Given the description of an element on the screen output the (x, y) to click on. 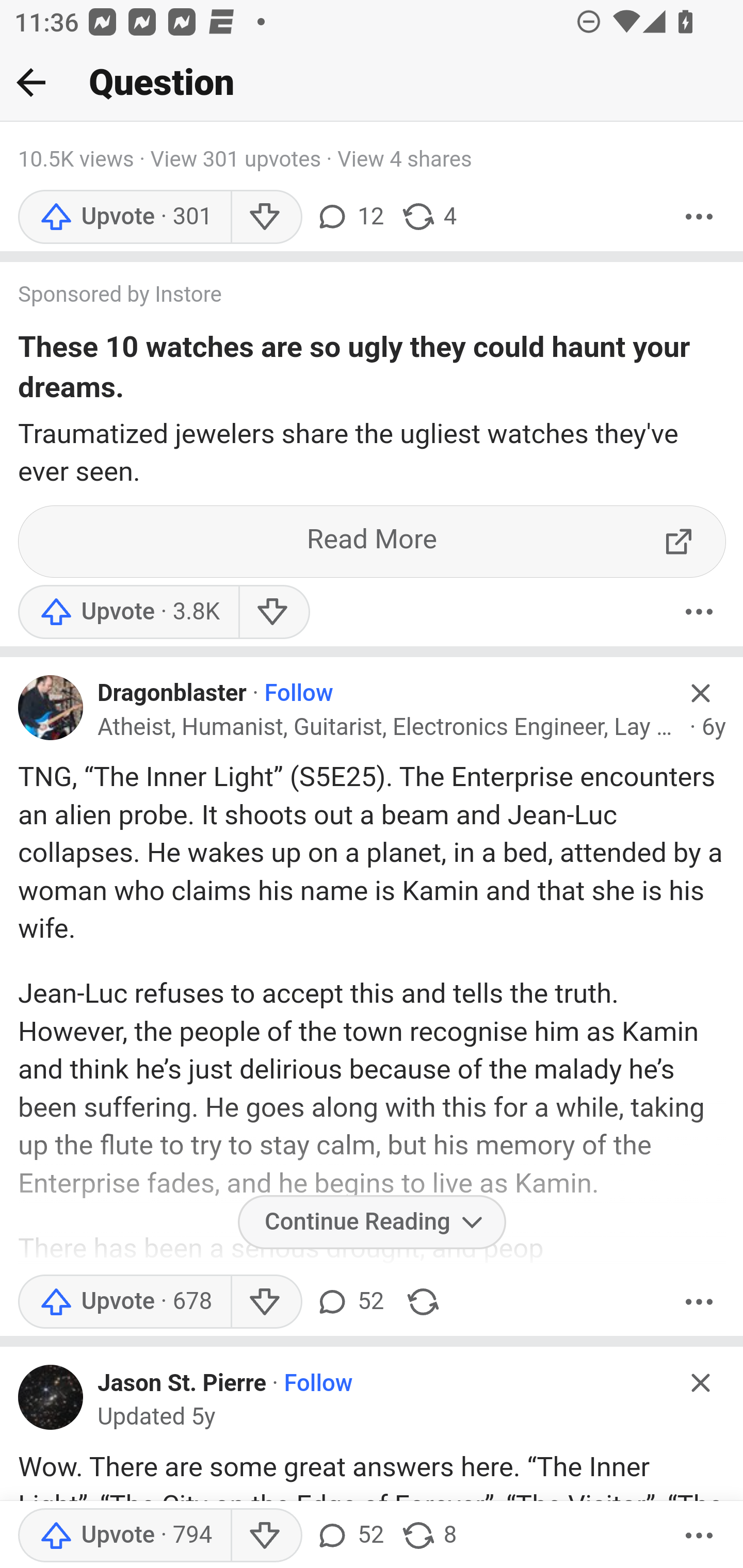
Back (30, 82)
